Given the description of an element on the screen output the (x, y) to click on. 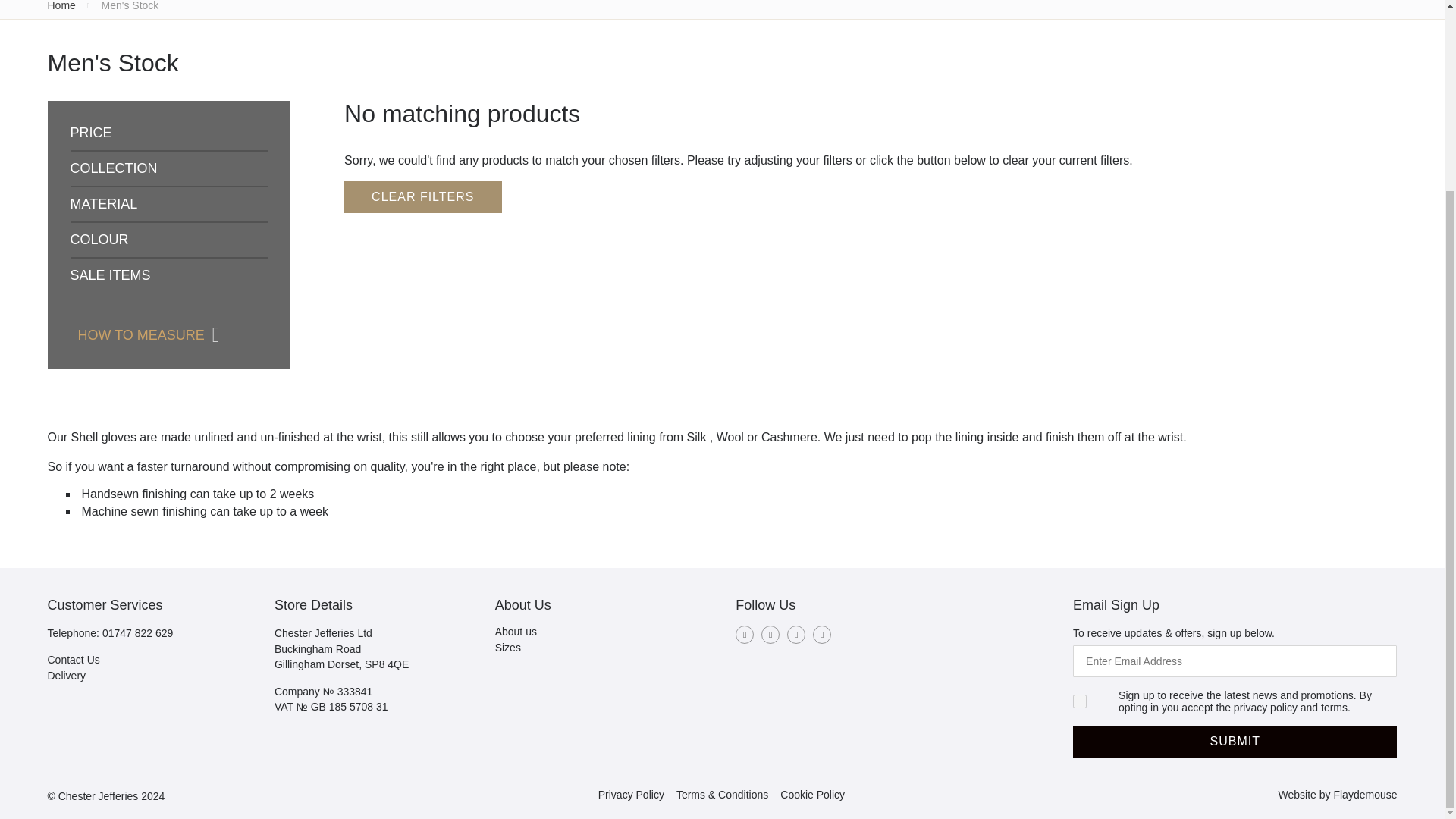
Home (60, 5)
CLEAR FILTERS (421, 196)
